Given the description of an element on the screen output the (x, y) to click on. 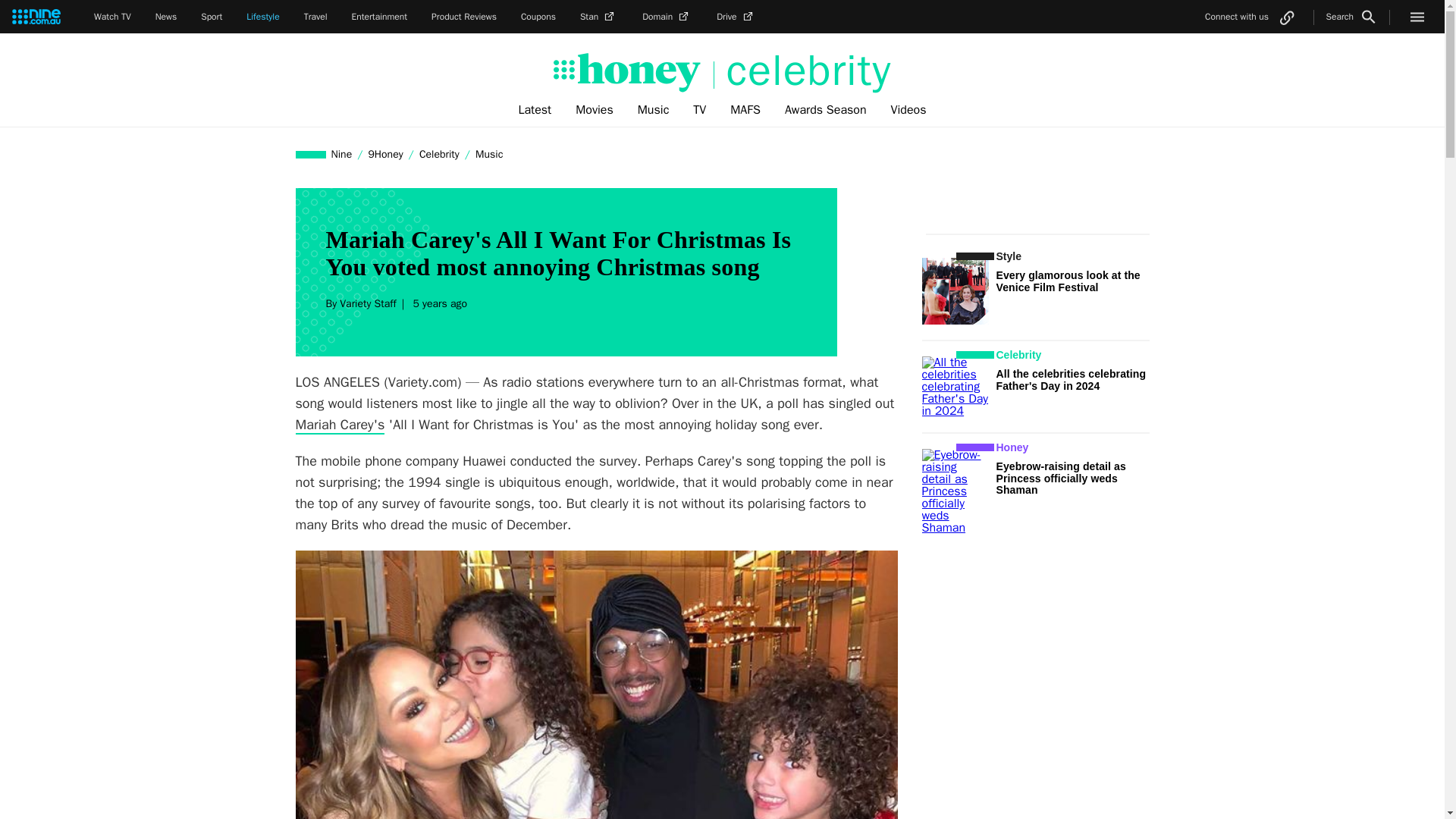
Entertainment (379, 16)
Movies (594, 109)
Music (489, 154)
Watch TV (112, 16)
Coupons (538, 16)
Drive (735, 16)
Product Reviews (463, 16)
Lifestyle (262, 16)
9Honey (384, 154)
Mariah Carey's (340, 425)
